Given the description of an element on the screen output the (x, y) to click on. 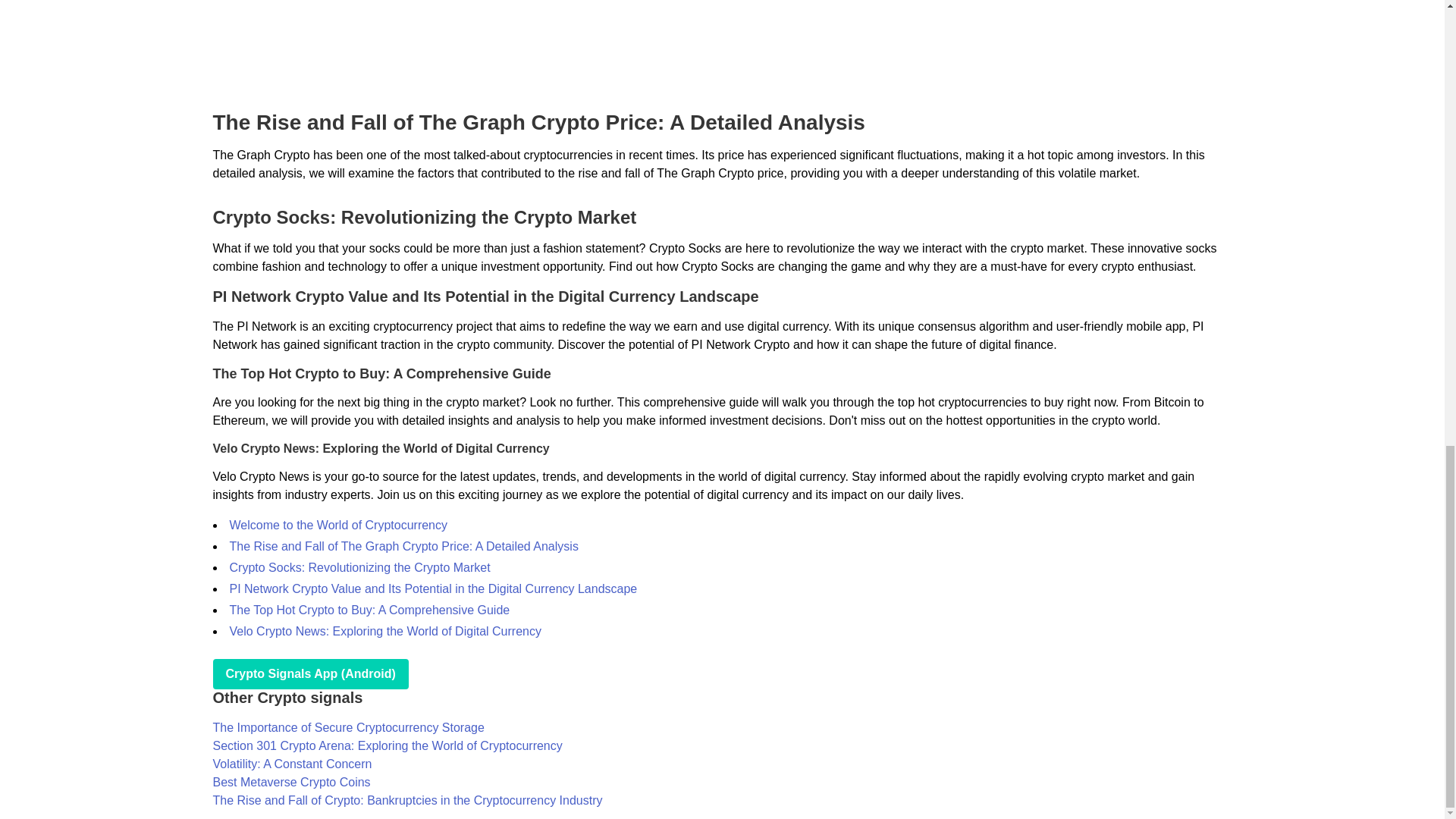
Best Metaverse Crypto Coins (290, 781)
Velo Crypto News: Exploring the World of Digital Currency (384, 631)
Volatility: A Constant Concern (291, 763)
Volatility: A Constant Concern (291, 763)
The Importance of Secure Cryptocurrency Storage (347, 727)
Best Metaverse Crypto Coins (290, 781)
The Top Hot Crypto to Buy: A Comprehensive Guide (368, 609)
play (309, 674)
Crypto Socks: Revolutionizing the Crypto Market (358, 567)
The Importance of Secure Cryptocurrency Storage (347, 727)
Welcome to the World of Cryptocurrency (337, 524)
